Given the description of an element on the screen output the (x, y) to click on. 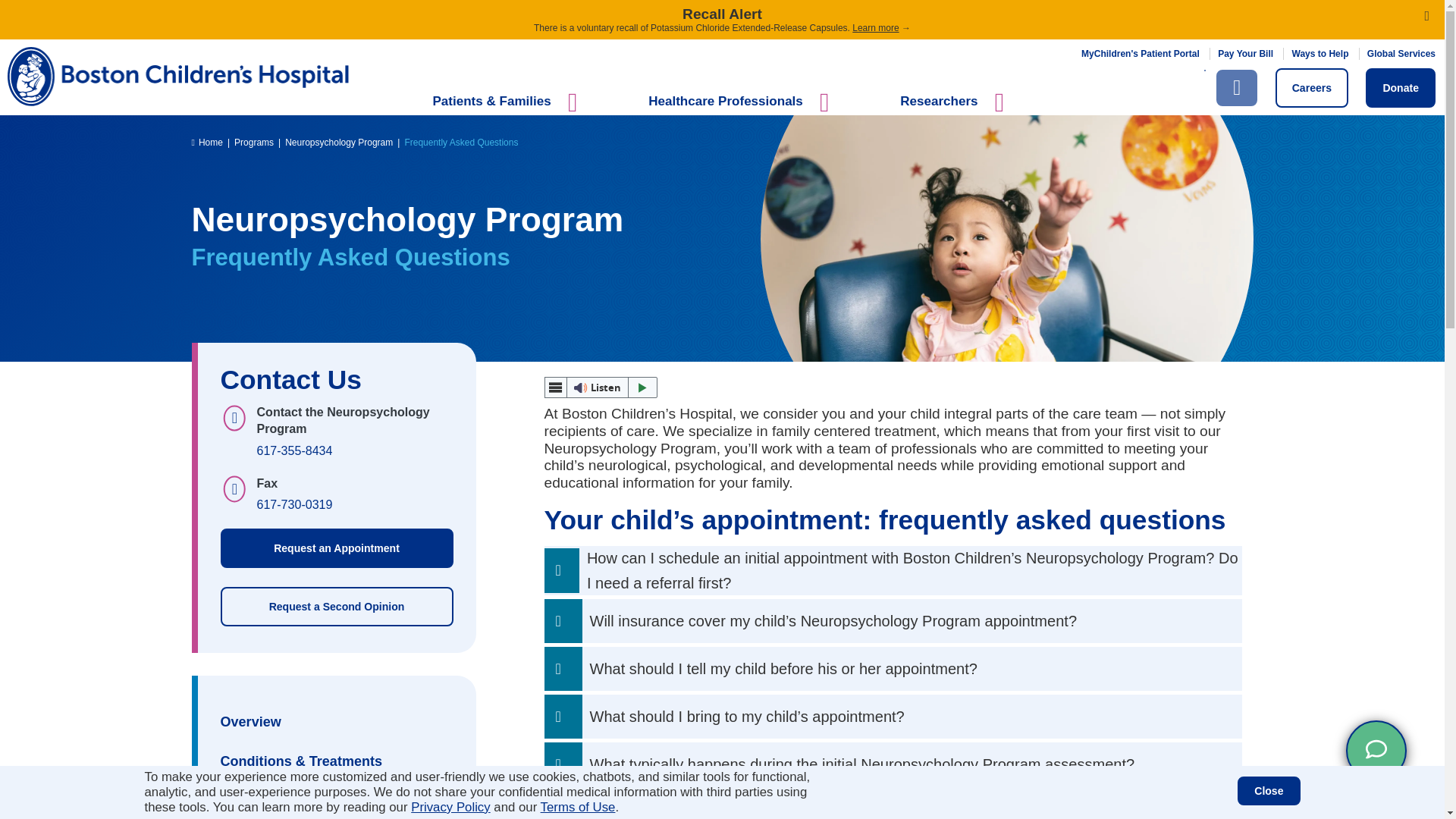
Expand menu Researchers (955, 109)
webReader menu (555, 387)
Terms of Use (577, 807)
Neuropsychology Program (339, 142)
Home (680, 76)
Programs (253, 142)
Privacy Policy (449, 807)
Home (206, 142)
Learn more (874, 27)
Listen to this page using ReadSpeaker (601, 387)
Expand menu Healthcare Professionals (742, 109)
Close (1268, 790)
